Given the description of an element on the screen output the (x, y) to click on. 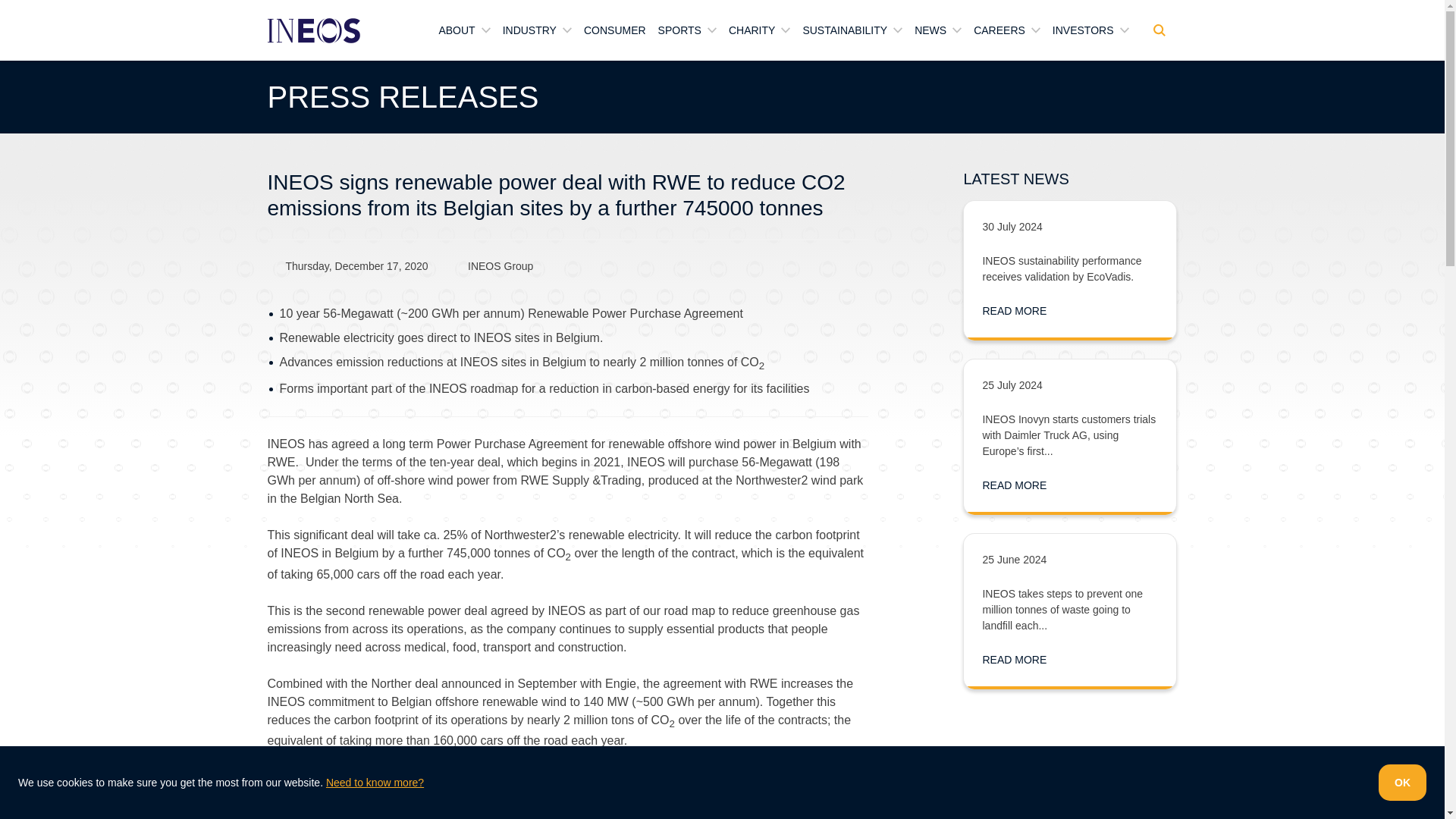
SUSTAINABILITY (852, 30)
CONSUMER (614, 30)
SPORTS (687, 30)
INDUSTRY (537, 30)
CHARITY (759, 30)
